Given the description of an element on the screen output the (x, y) to click on. 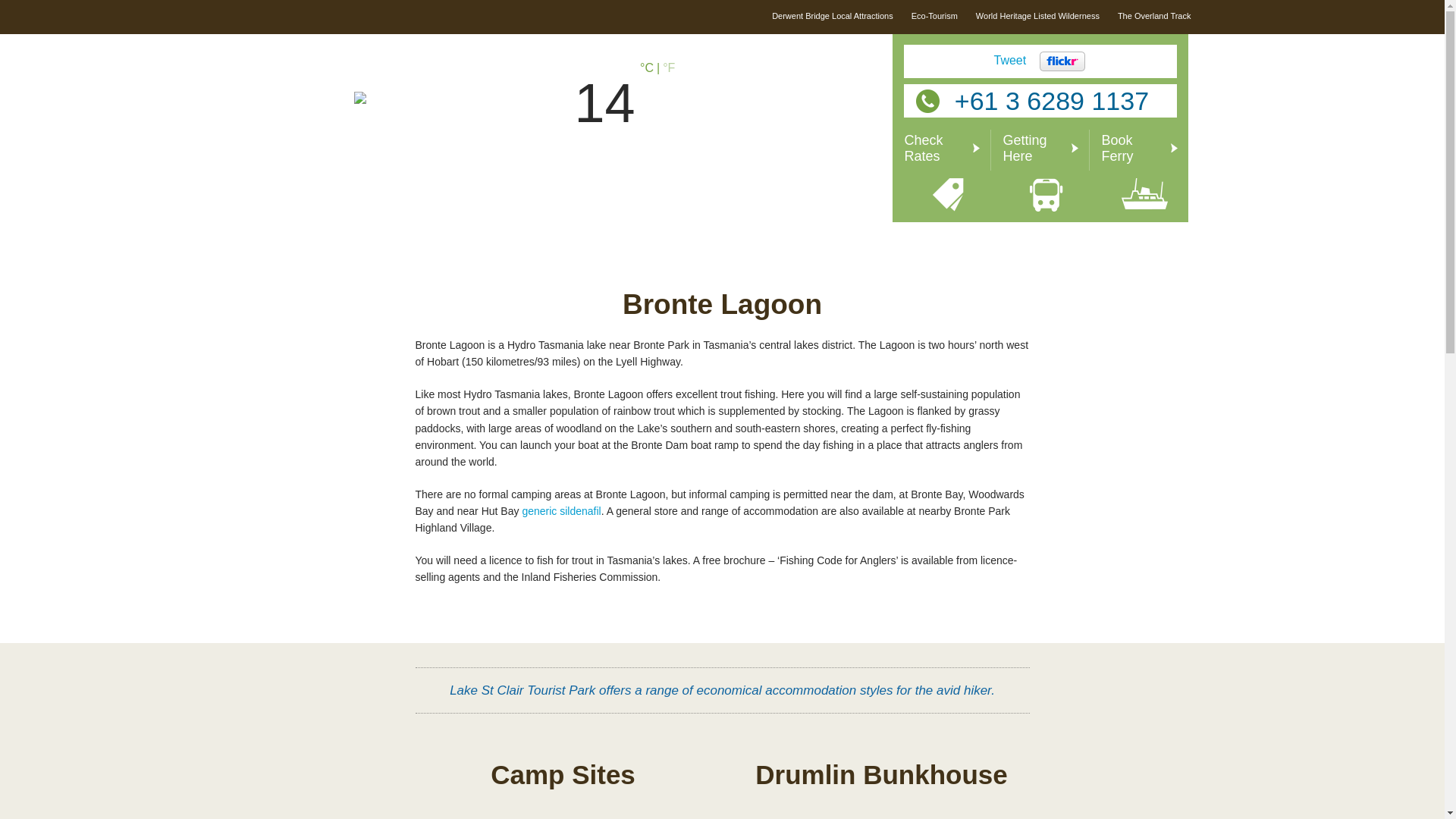
The Overland Track Element type: text (1154, 15)
Getting
Here Element type: text (1045, 170)
Book
Ferry Element type: text (1144, 169)
Tweet Element type: text (1010, 59)
World Heritage Listed Wilderness Element type: text (1037, 15)
Eco-Tourism Element type: text (934, 15)
+61 3 6289 1137 Element type: text (1039, 100)
Derwent Bridge Local Attractions Element type: text (832, 15)
generic sildenafil Element type: text (560, 511)
